Given the description of an element on the screen output the (x, y) to click on. 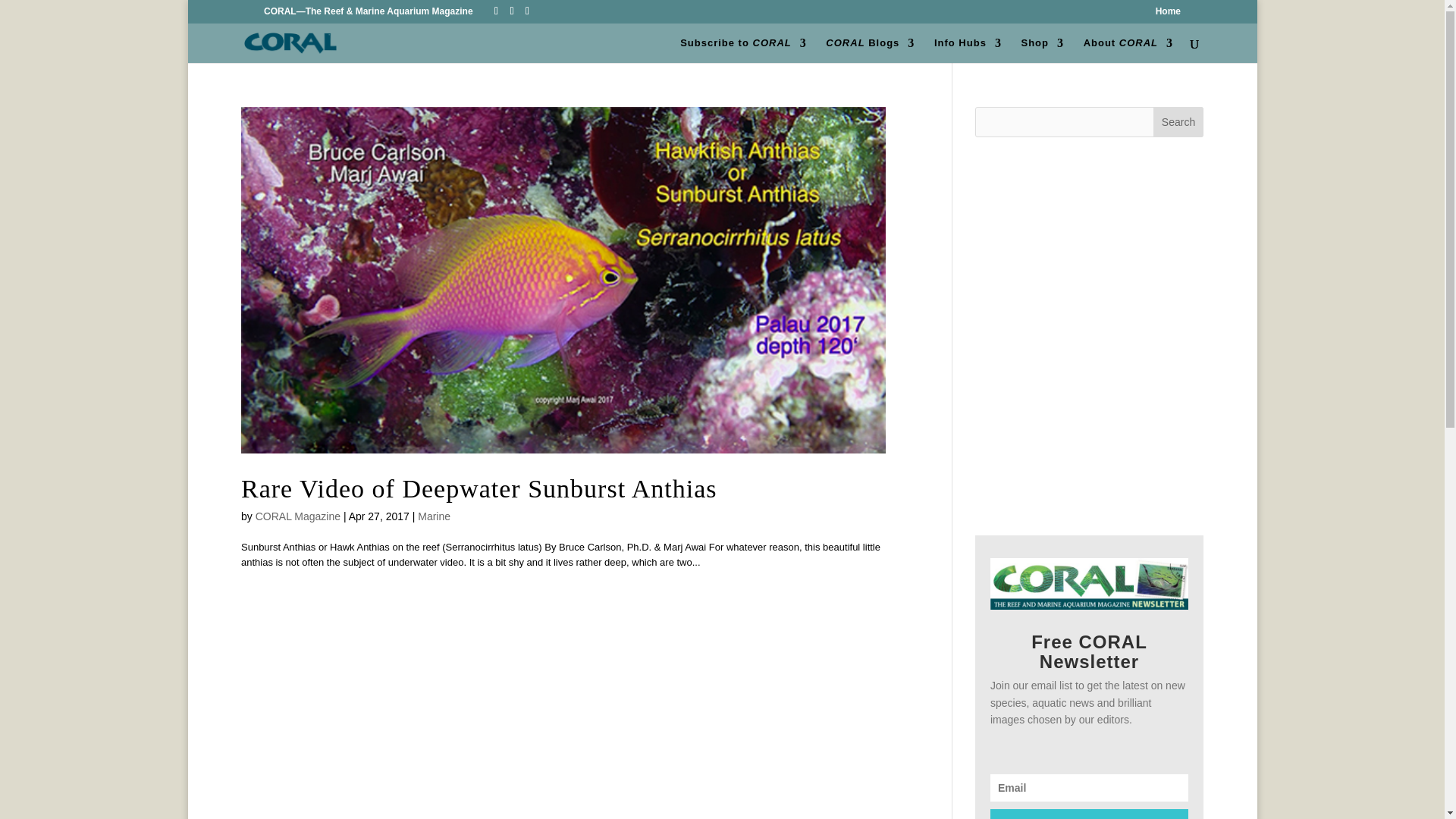
Visit our online store for CORAL Magazine (1042, 50)
Subscribe to CORAL Magazine (742, 50)
Info Hubs (967, 50)
Subscribe to CORAL (742, 50)
Learn more about CORAL Magazine (1128, 50)
CORAL Blogs (869, 50)
Home (1168, 14)
